Given the description of an element on the screen output the (x, y) to click on. 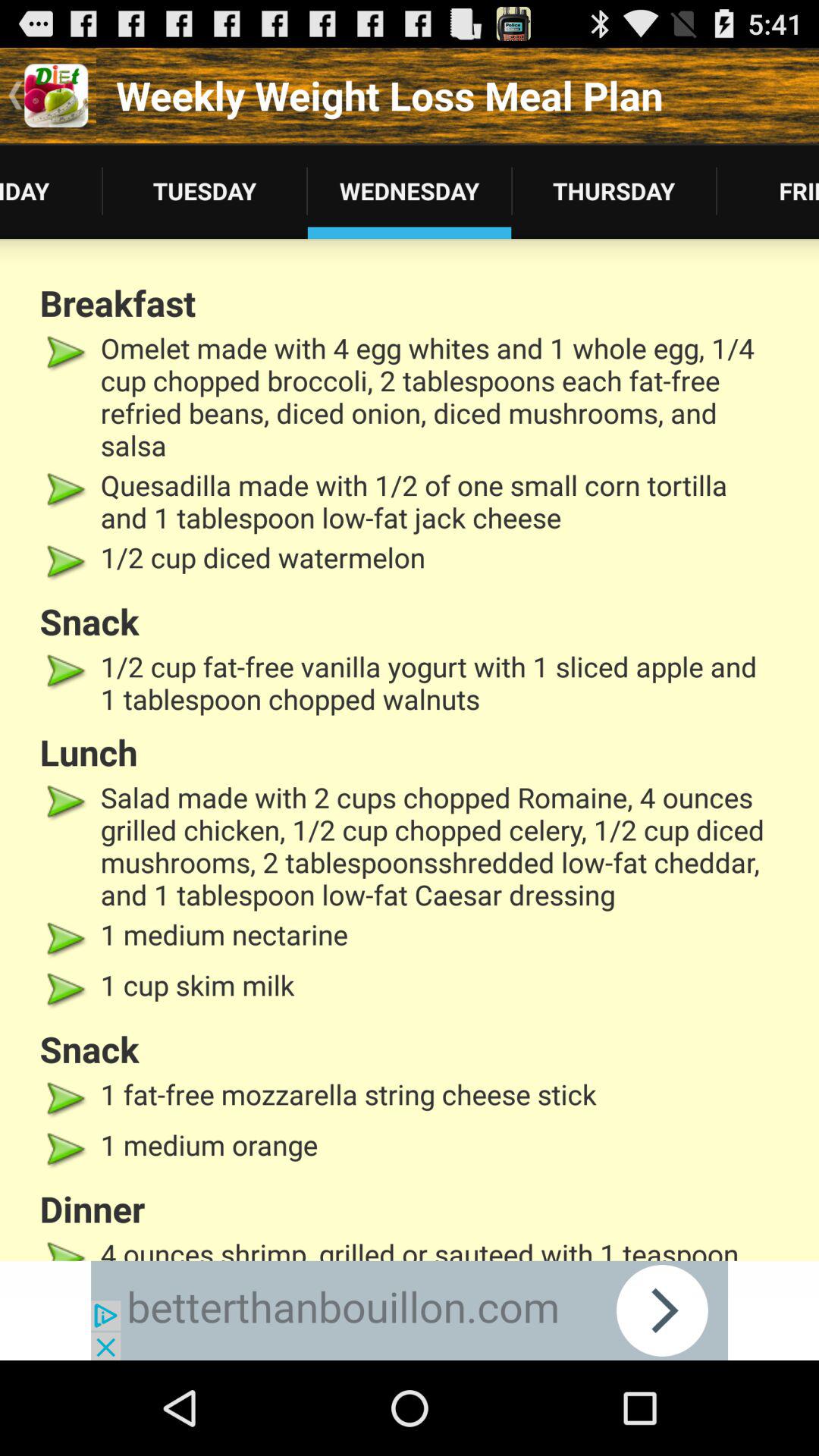
share article (409, 1310)
